Given the description of an element on the screen output the (x, y) to click on. 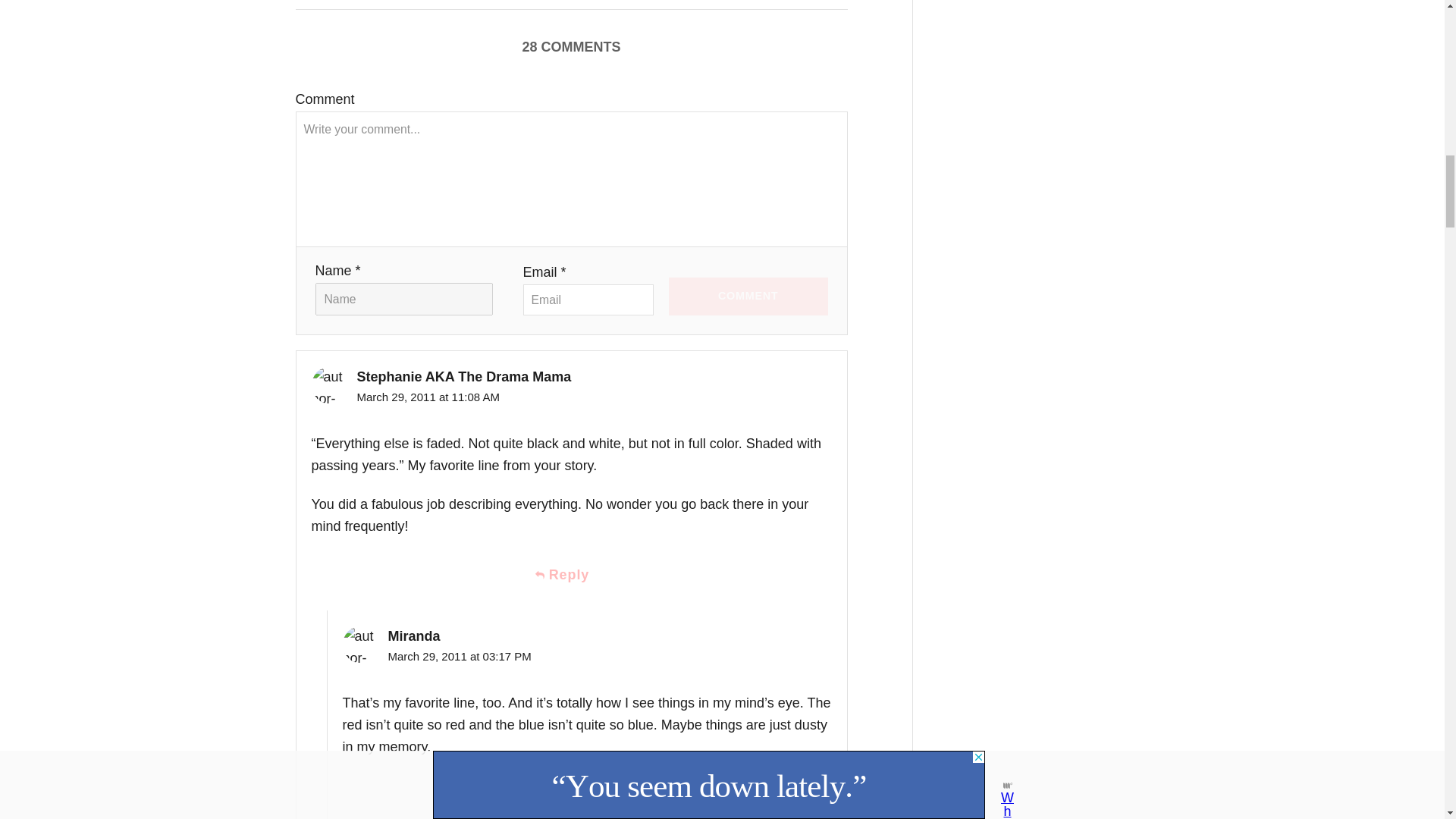
Reply (586, 795)
COMMENT (748, 295)
Reply (571, 575)
